Given the description of an element on the screen output the (x, y) to click on. 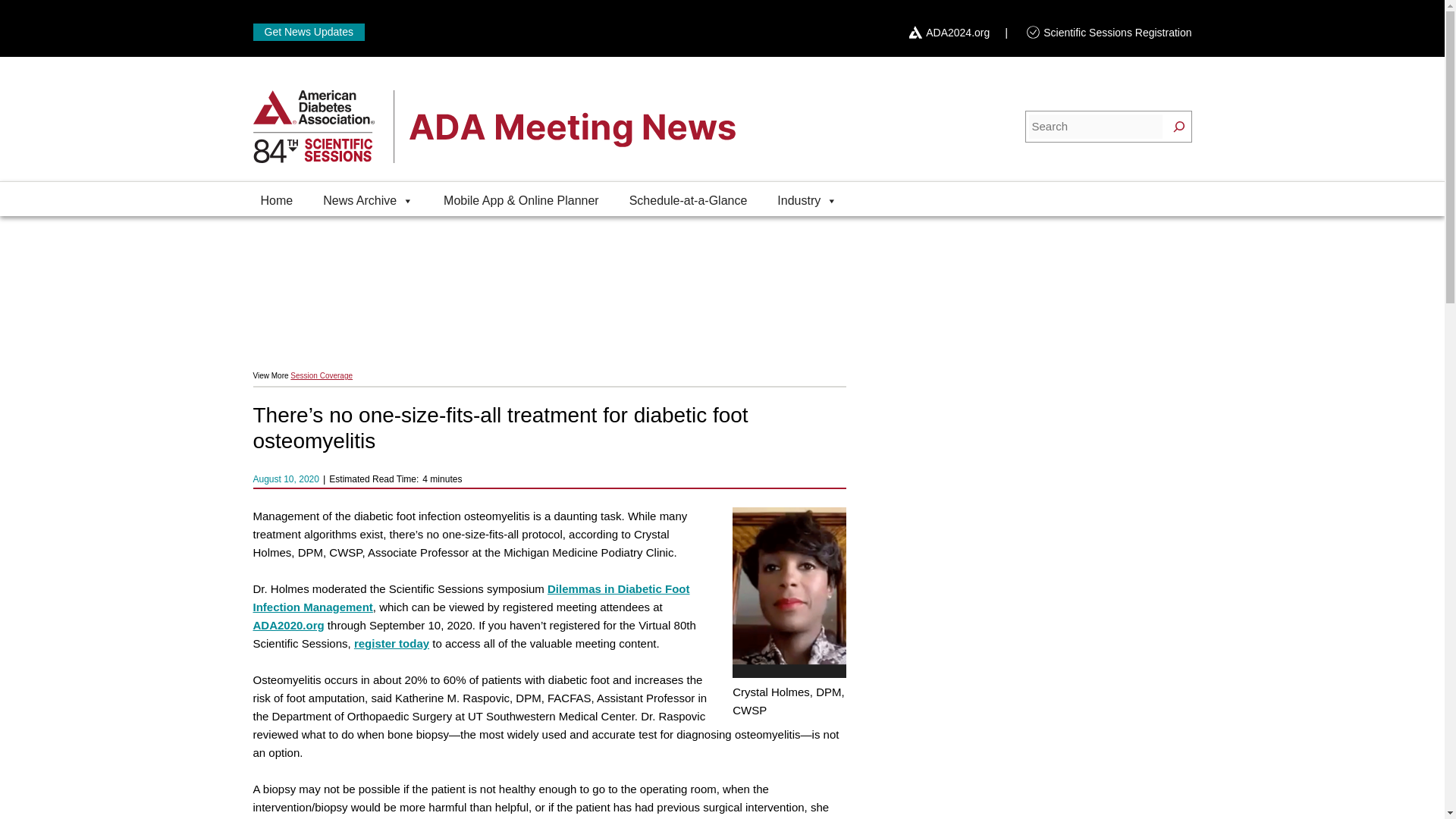
Industry (807, 196)
Scientific Sessions Registration (1117, 31)
News Archive (367, 196)
Home (277, 196)
Get News Updates (309, 31)
ADA2024.org (958, 31)
Schedule-at-a-Glance (688, 196)
